Given the description of an element on the screen output the (x, y) to click on. 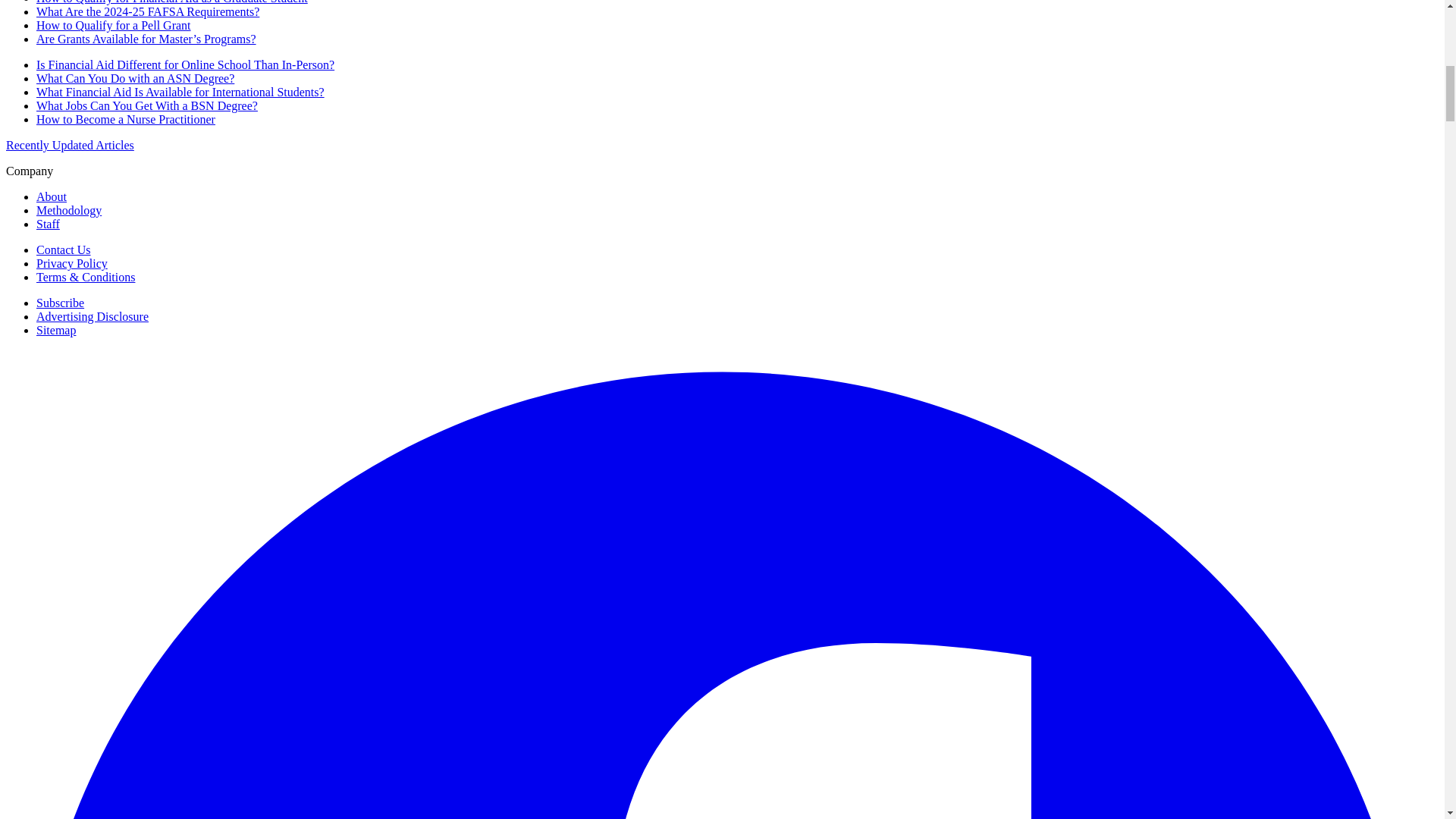
How to Qualify for a Pell Grant (113, 24)
Subscribe (60, 302)
How to Qualify for Financial Aid as a Graduate Student (171, 2)
Privacy Policy (71, 263)
What Jobs Can You Get With a BSN Degree? (146, 105)
Is Financial Aid Different for Online School Than In-Person? (185, 64)
Staff (47, 223)
Methodology (68, 210)
What Are the 2024-25 FAFSA Requirements? (147, 11)
Advertising Disclosure (92, 316)
